Given the description of an element on the screen output the (x, y) to click on. 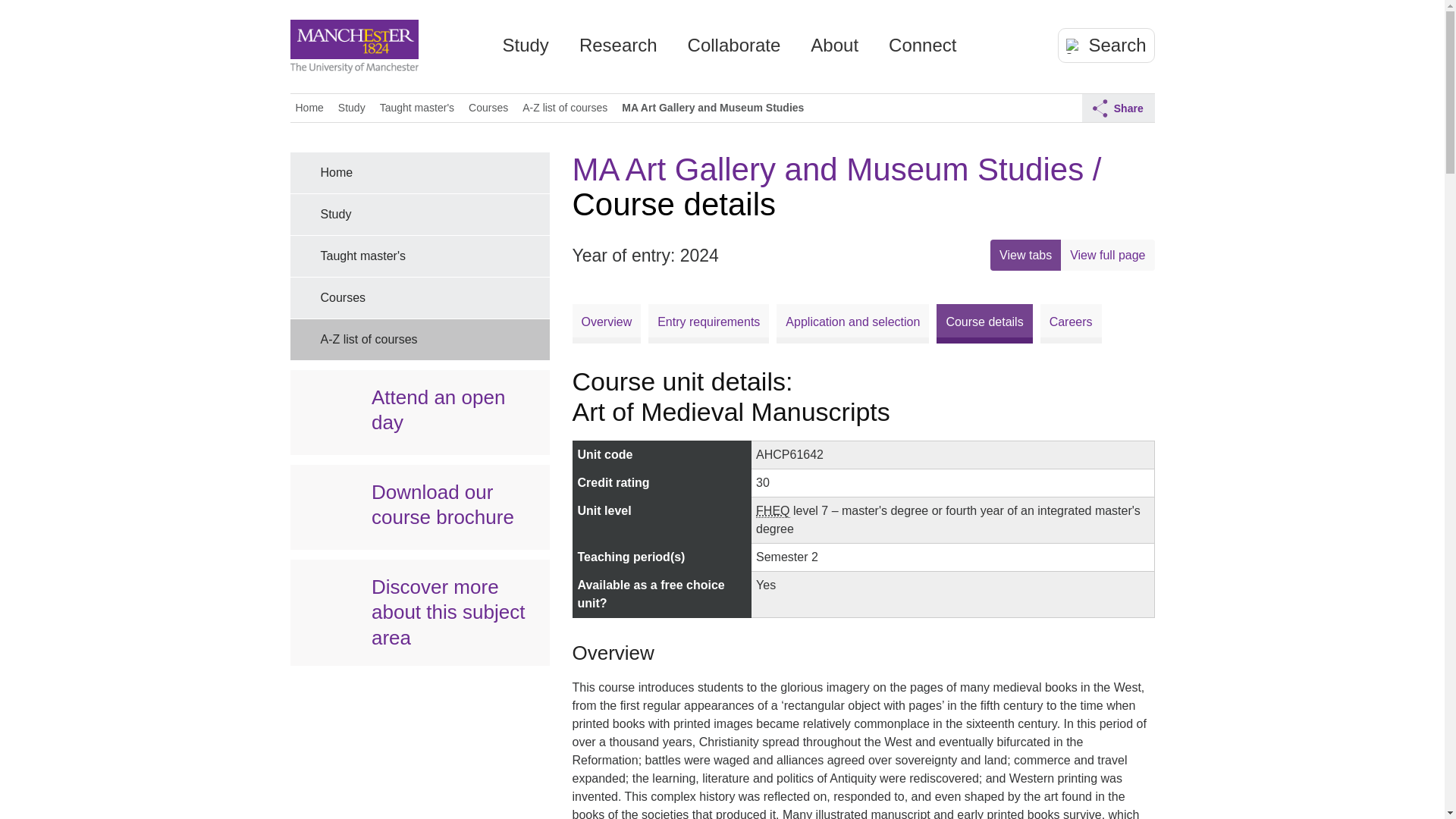
Home (459, 41)
Study (524, 50)
Research at the University (618, 50)
